Given the description of an element on the screen output the (x, y) to click on. 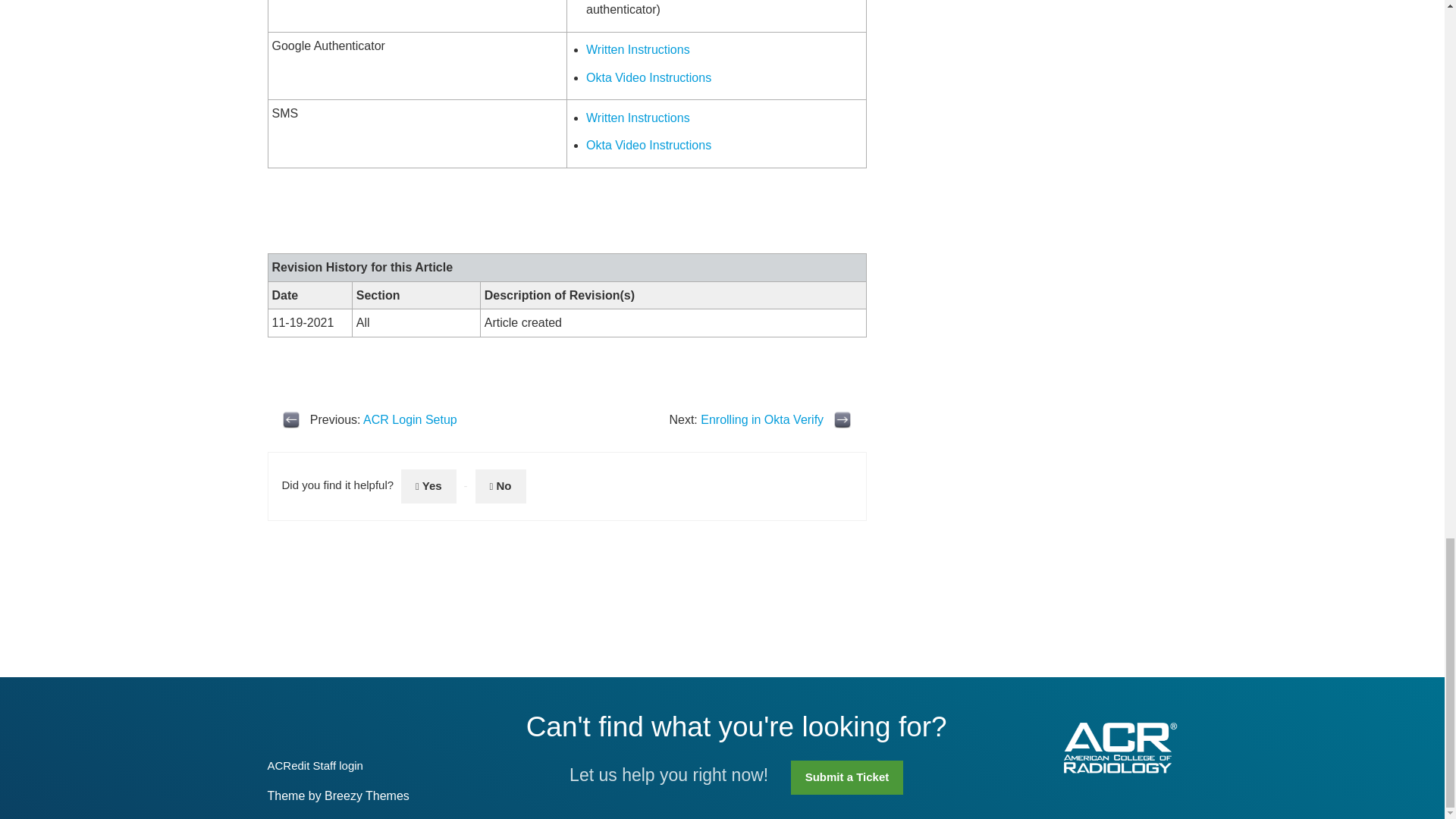
Okta Video Instructions (648, 144)
Written Instructions (638, 49)
Written Instructions (638, 117)
ACR Login Setup (409, 419)
Okta Video Instructions (648, 77)
Enrolling in Okta Verify (762, 419)
